Given the description of an element on the screen output the (x, y) to click on. 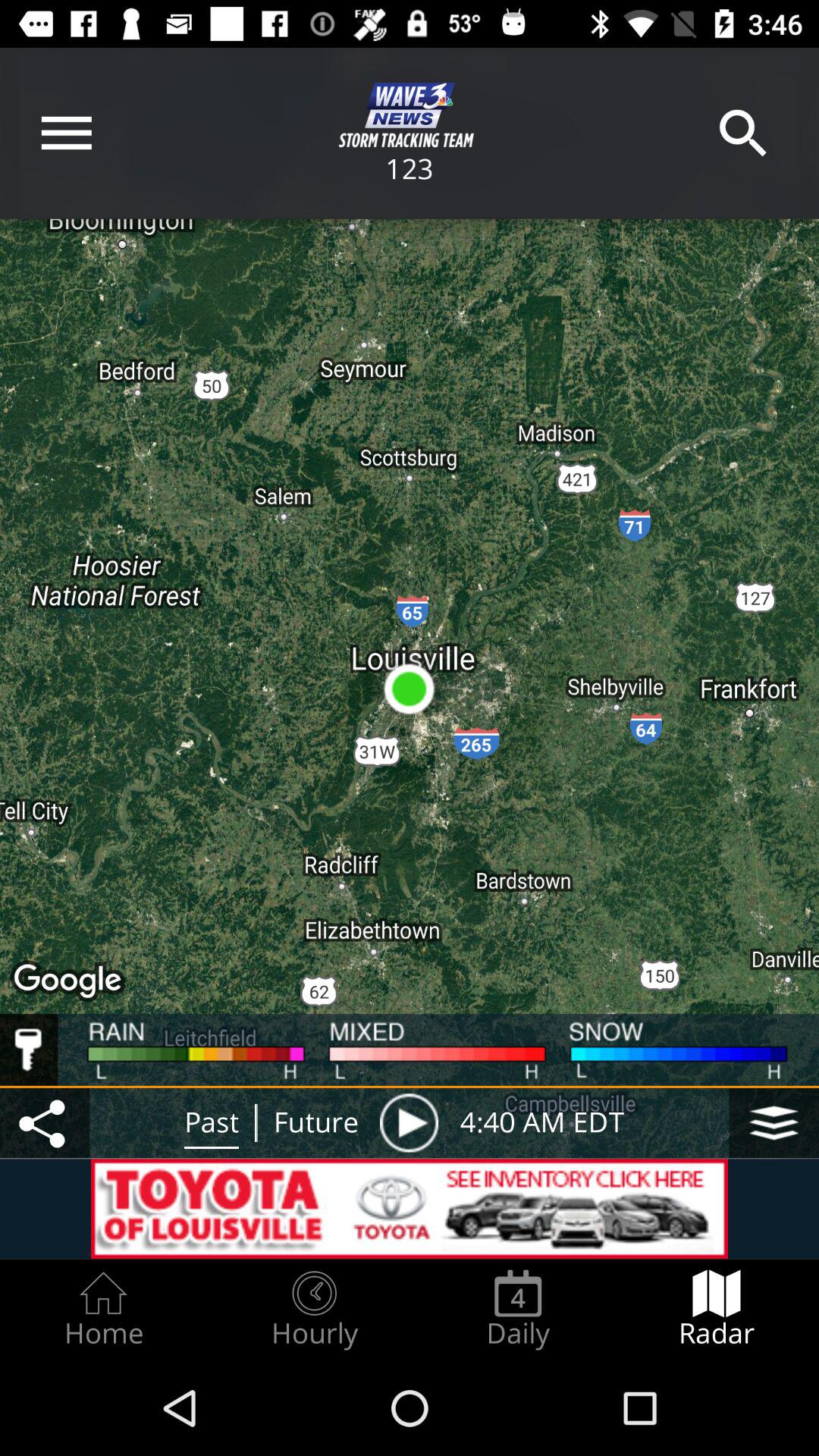
press the icon to the left of 4 40 am icon (409, 1122)
